Given the description of an element on the screen output the (x, y) to click on. 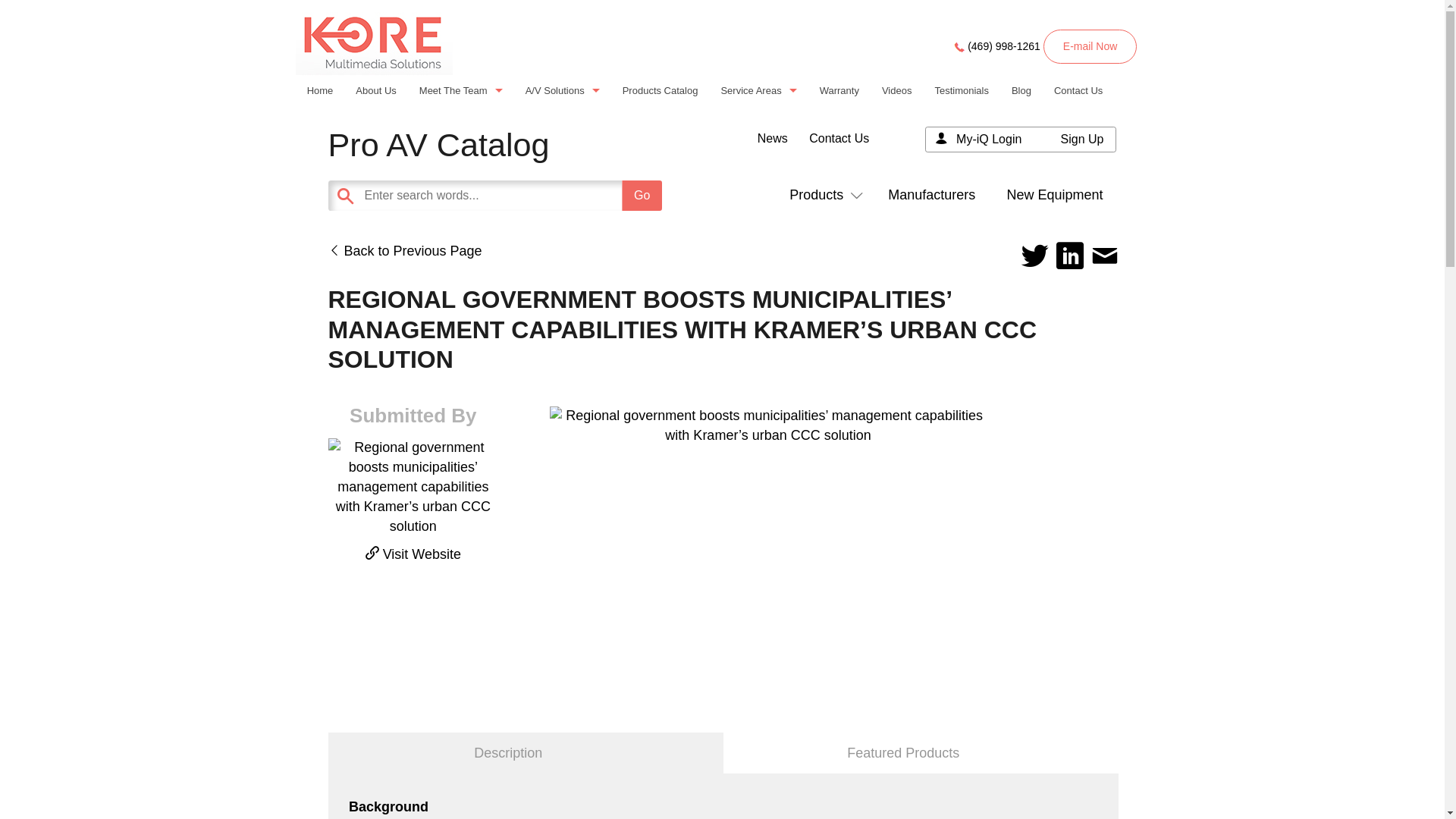
Go (641, 195)
About Us (375, 90)
Go (641, 195)
Enter search words... (531, 195)
E-mail Now (1090, 46)
Meet The Team (460, 90)
Home (320, 90)
